Given the description of an element on the screen output the (x, y) to click on. 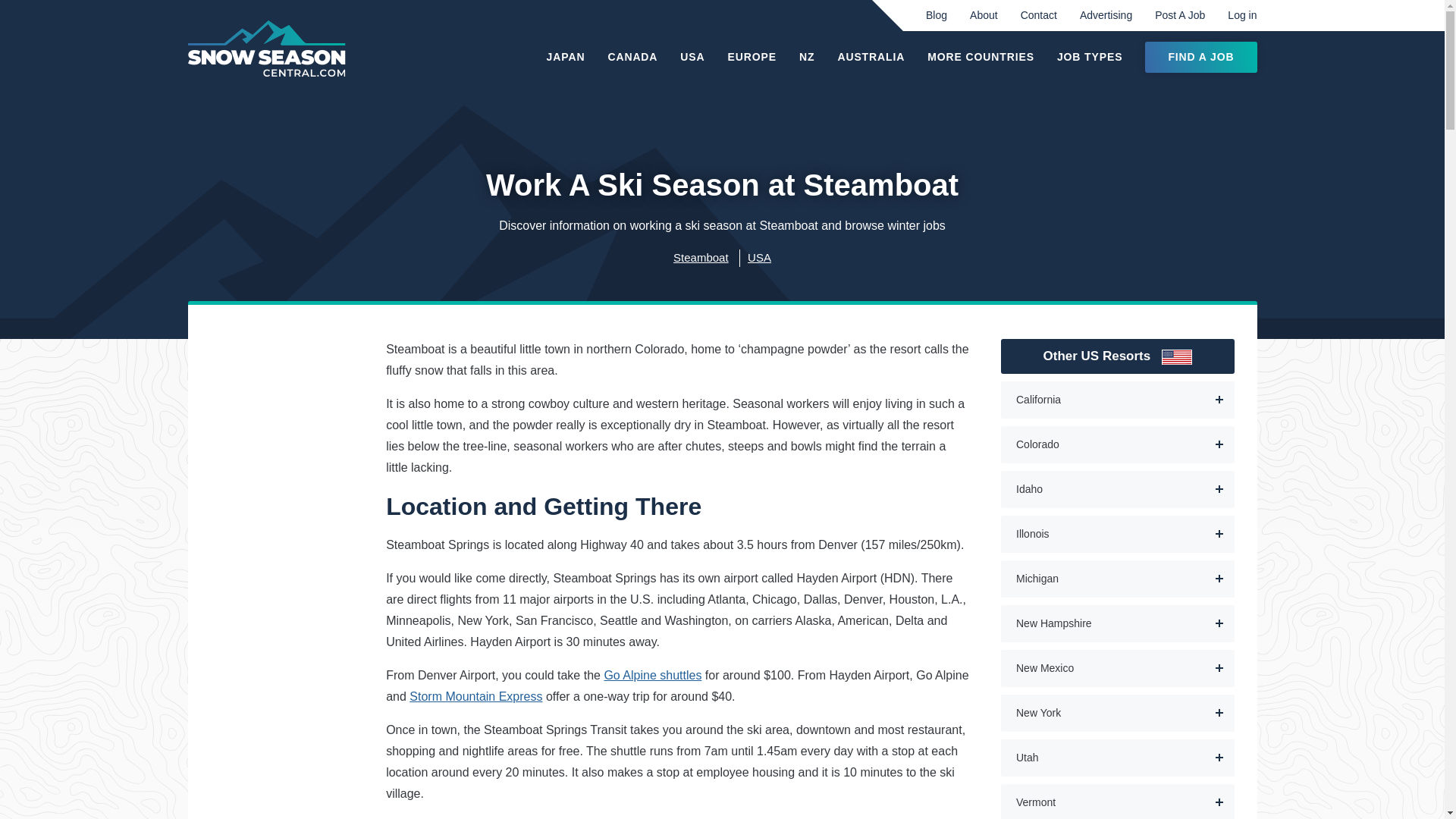
CANADA (632, 56)
JAPAN (566, 56)
